Given the description of an element on the screen output the (x, y) to click on. 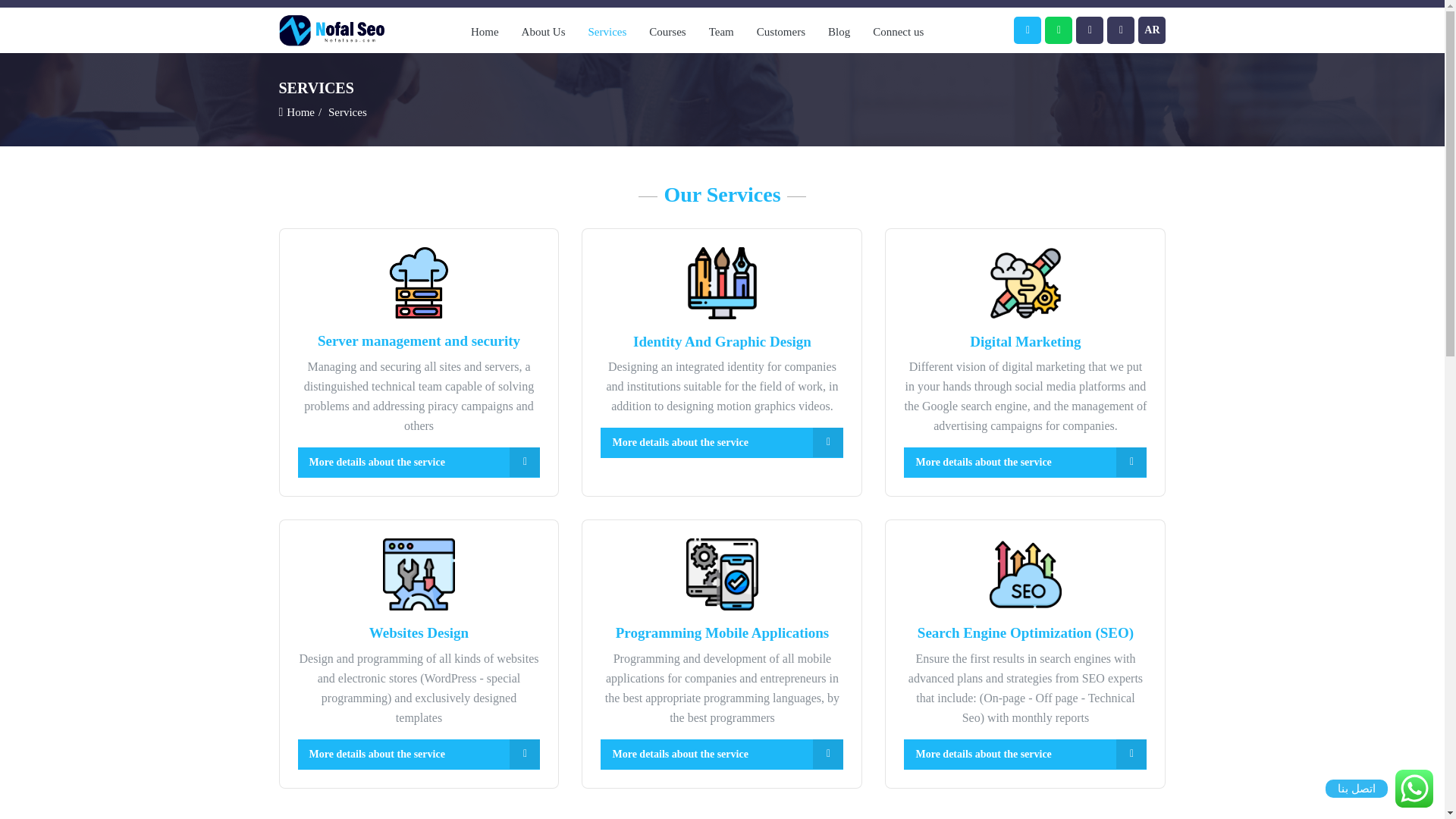
Websites Design (418, 657)
More details about the service (721, 754)
Digital Marketing (1025, 366)
About Us (543, 31)
Programming Mobile Applications (721, 657)
Team (721, 31)
Services (607, 31)
Home (302, 110)
Send Request (727, 568)
Server management and security (418, 366)
